Given the description of an element on the screen output the (x, y) to click on. 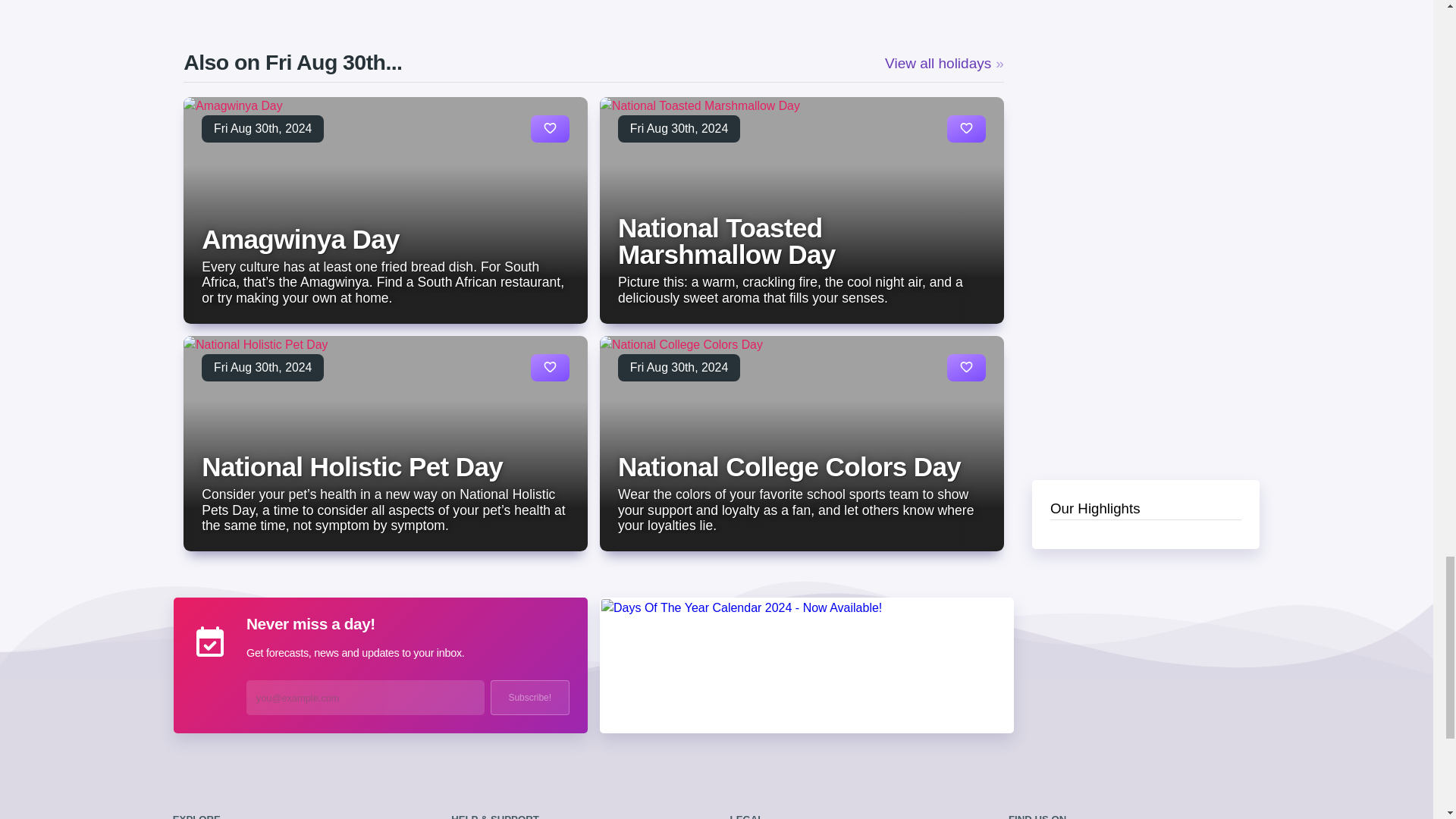
View all holidays (944, 64)
Subscribe! (529, 697)
Amagwinya Day (300, 238)
National Toasted Marshmallow Day (726, 240)
National College Colors Day (788, 466)
National Holistic Pet Day (352, 466)
Subscribe! (529, 697)
